Given the description of an element on the screen output the (x, y) to click on. 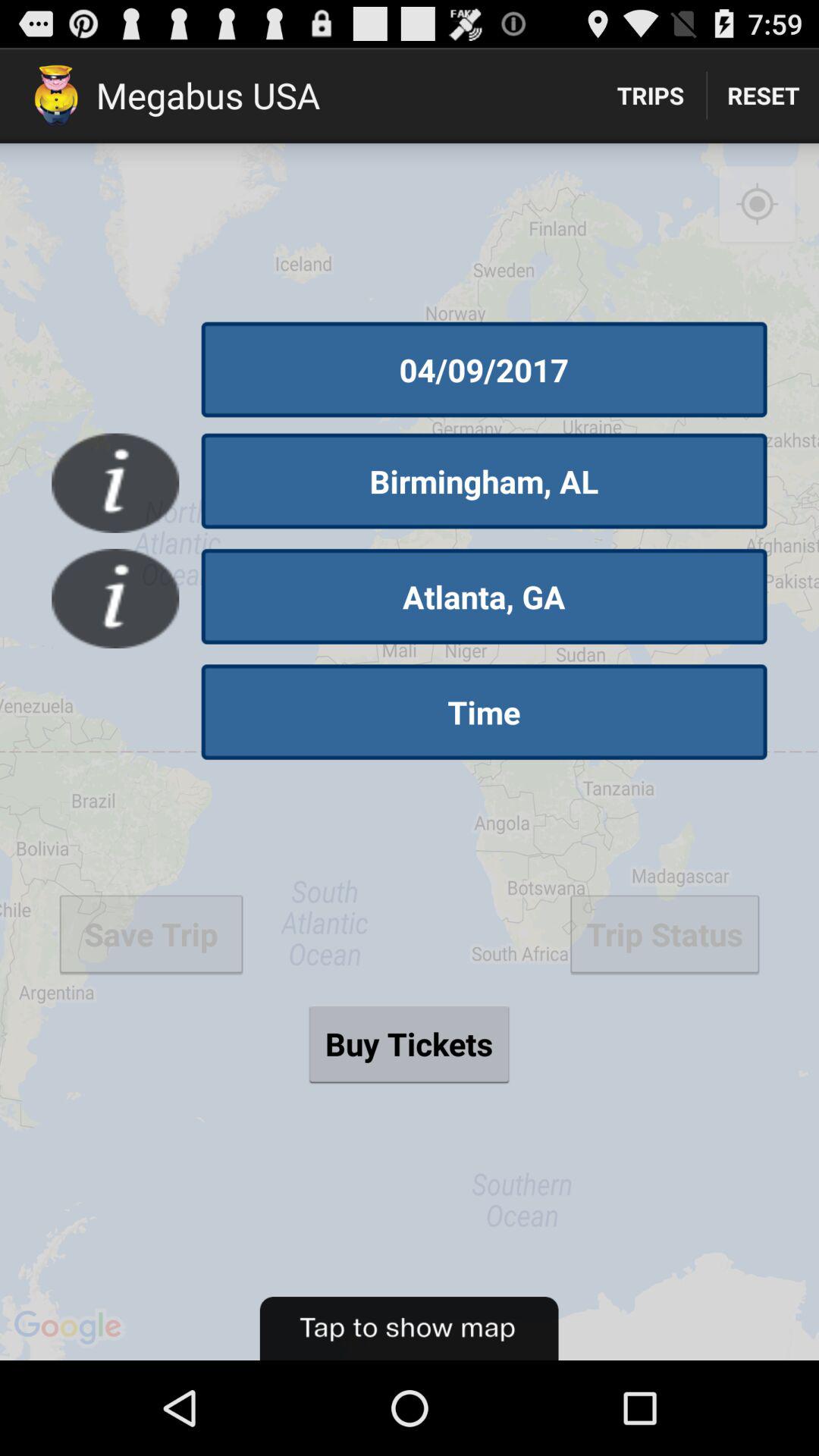
turn off button above atlanta, ga (484, 480)
